Given the description of an element on the screen output the (x, y) to click on. 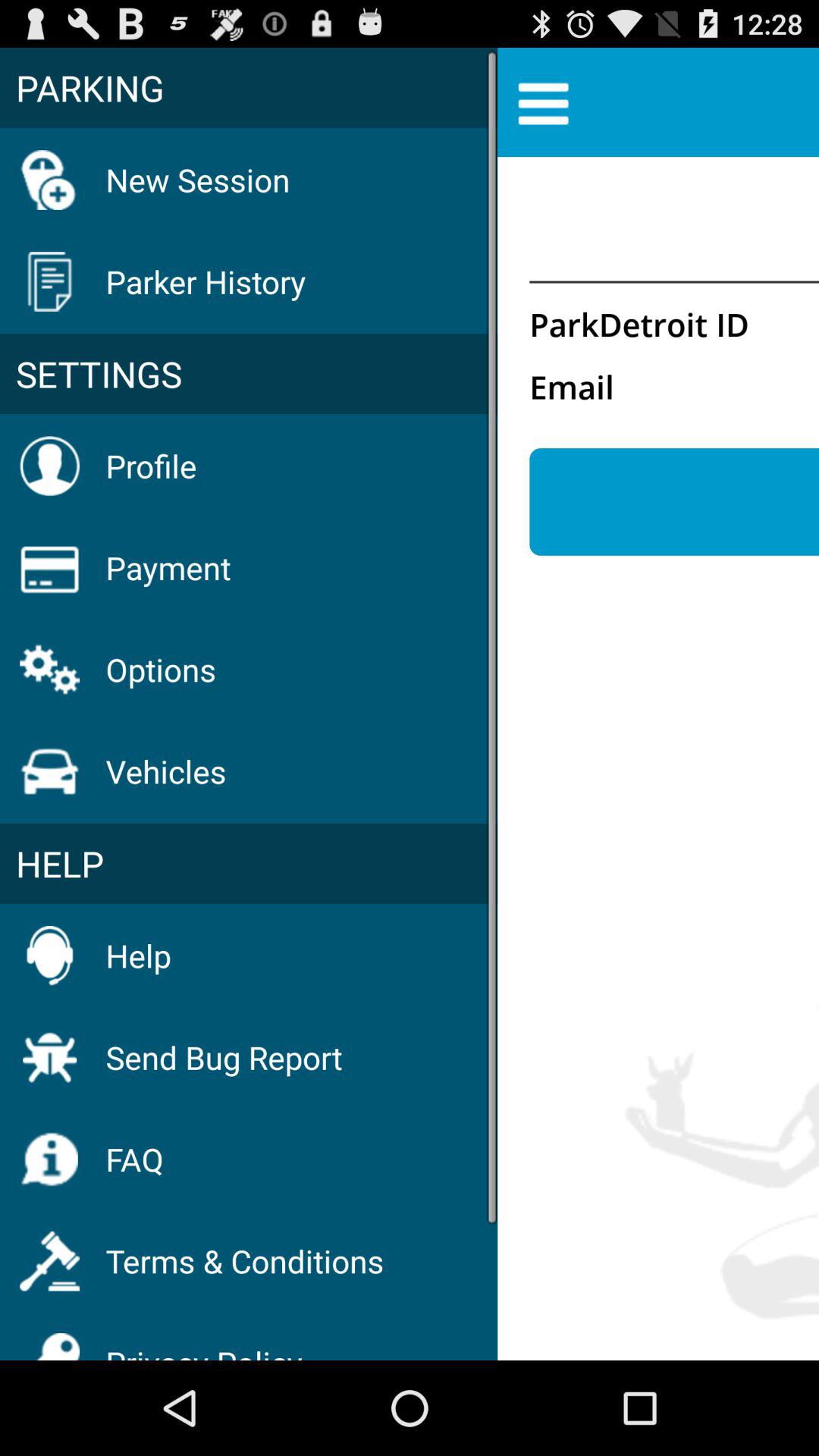
open icon to the left of the parkdetroit id item (248, 373)
